Given the description of an element on the screen output the (x, y) to click on. 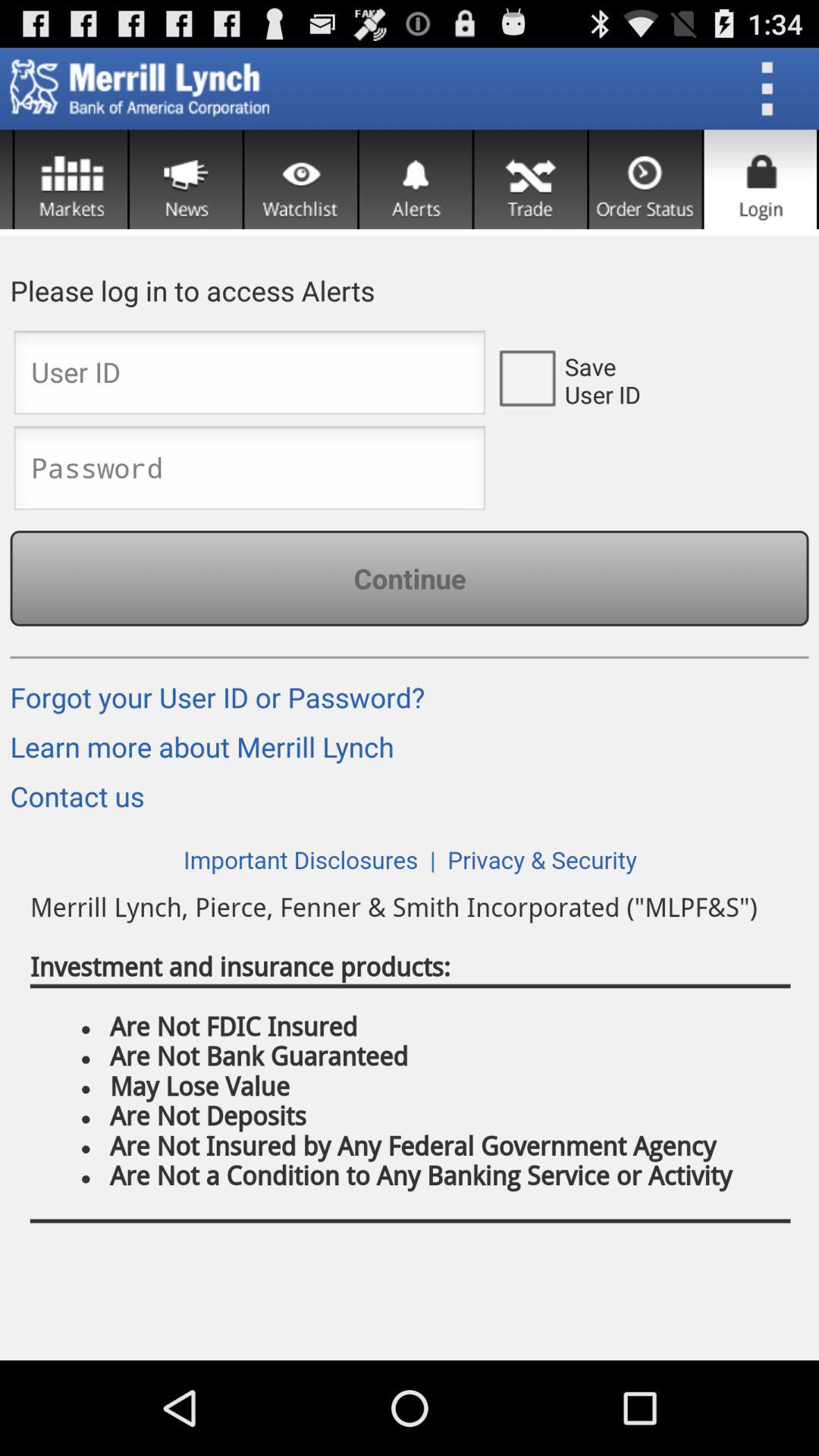
userid (249, 376)
